Given the description of an element on the screen output the (x, y) to click on. 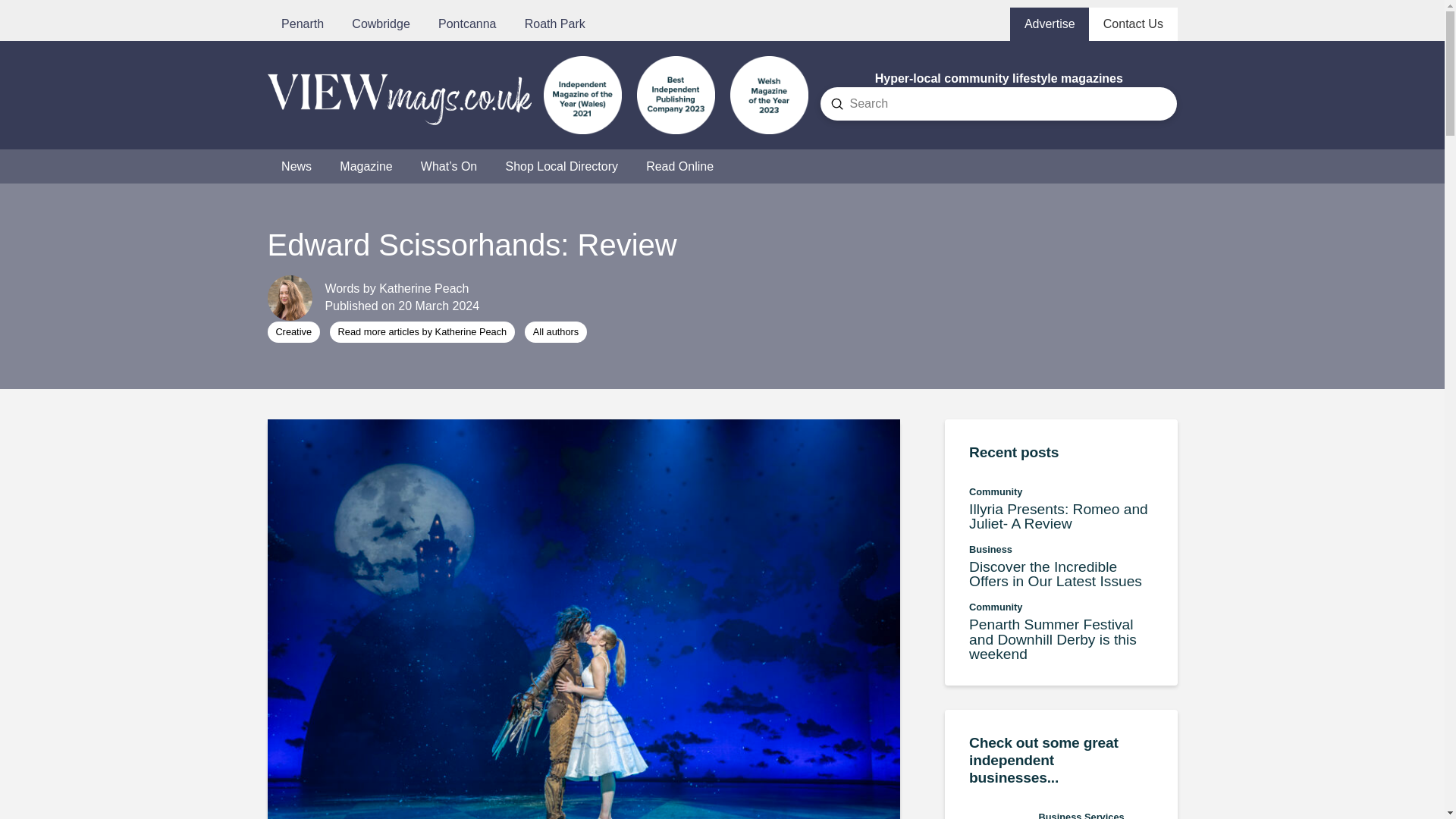
Shop Local Directory (561, 165)
Advertise (1049, 23)
Read more articles by Katherine Peach (422, 332)
Magazine (366, 165)
Creative (292, 332)
Submit (837, 103)
News (295, 165)
Penarth (301, 23)
Roath Park (554, 23)
Read Online (679, 165)
All authors (555, 332)
Pontcanna (467, 23)
Katherine Peach (423, 287)
Contact Us (1061, 507)
